Given the description of an element on the screen output the (x, y) to click on. 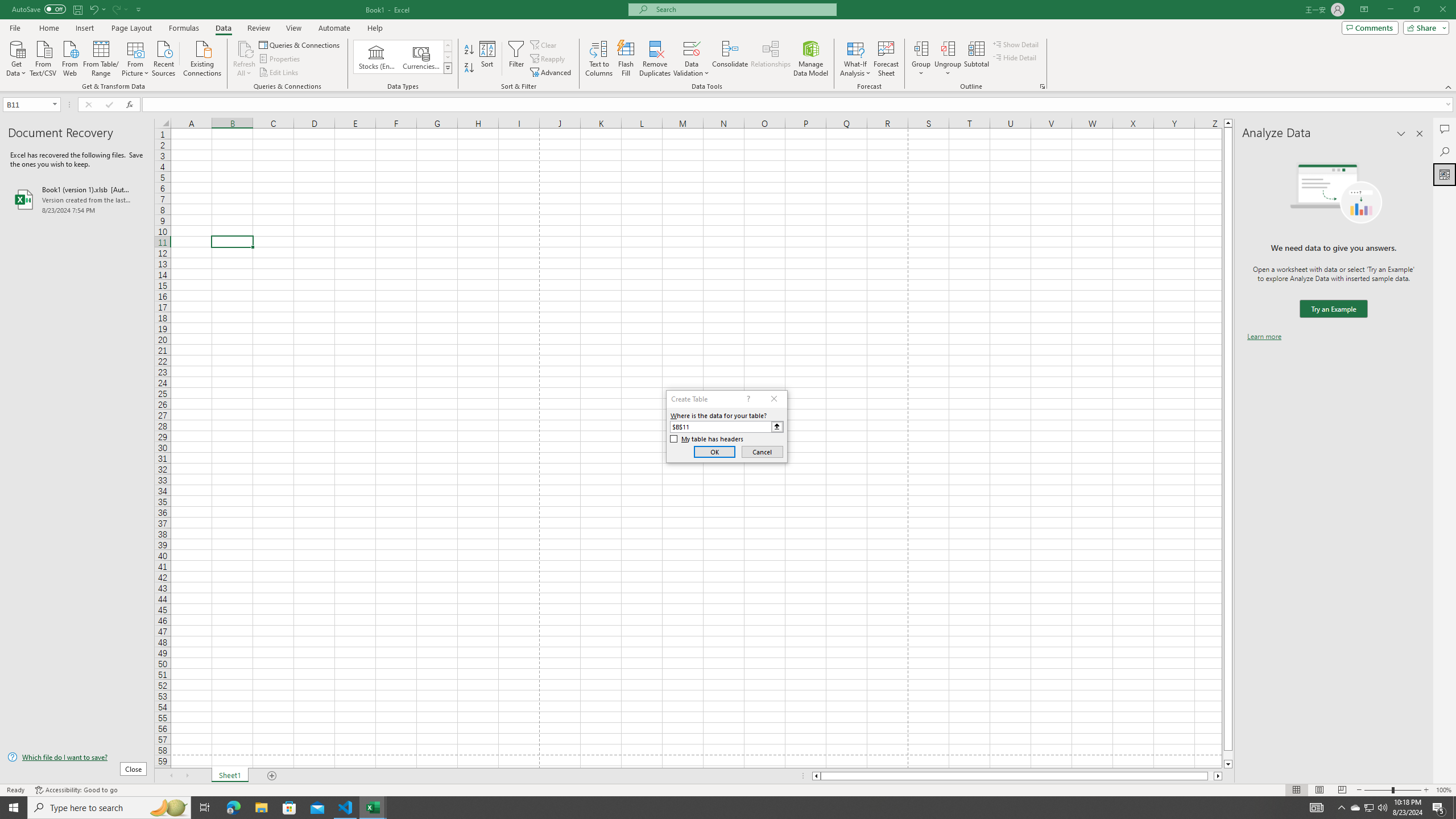
Manage Data Model (810, 58)
Line down (1228, 764)
AutomationID: ConvertToLinkedEntity (403, 56)
Clear (544, 44)
Refresh All (244, 58)
Save (77, 9)
Recent Sources (163, 57)
Scroll Right (187, 775)
Page right (1211, 775)
Column right (1218, 775)
AutoSave (38, 9)
Data Types (448, 67)
Line up (1228, 122)
Row up (448, 45)
Formula Bar (799, 104)
